Given the description of an element on the screen output the (x, y) to click on. 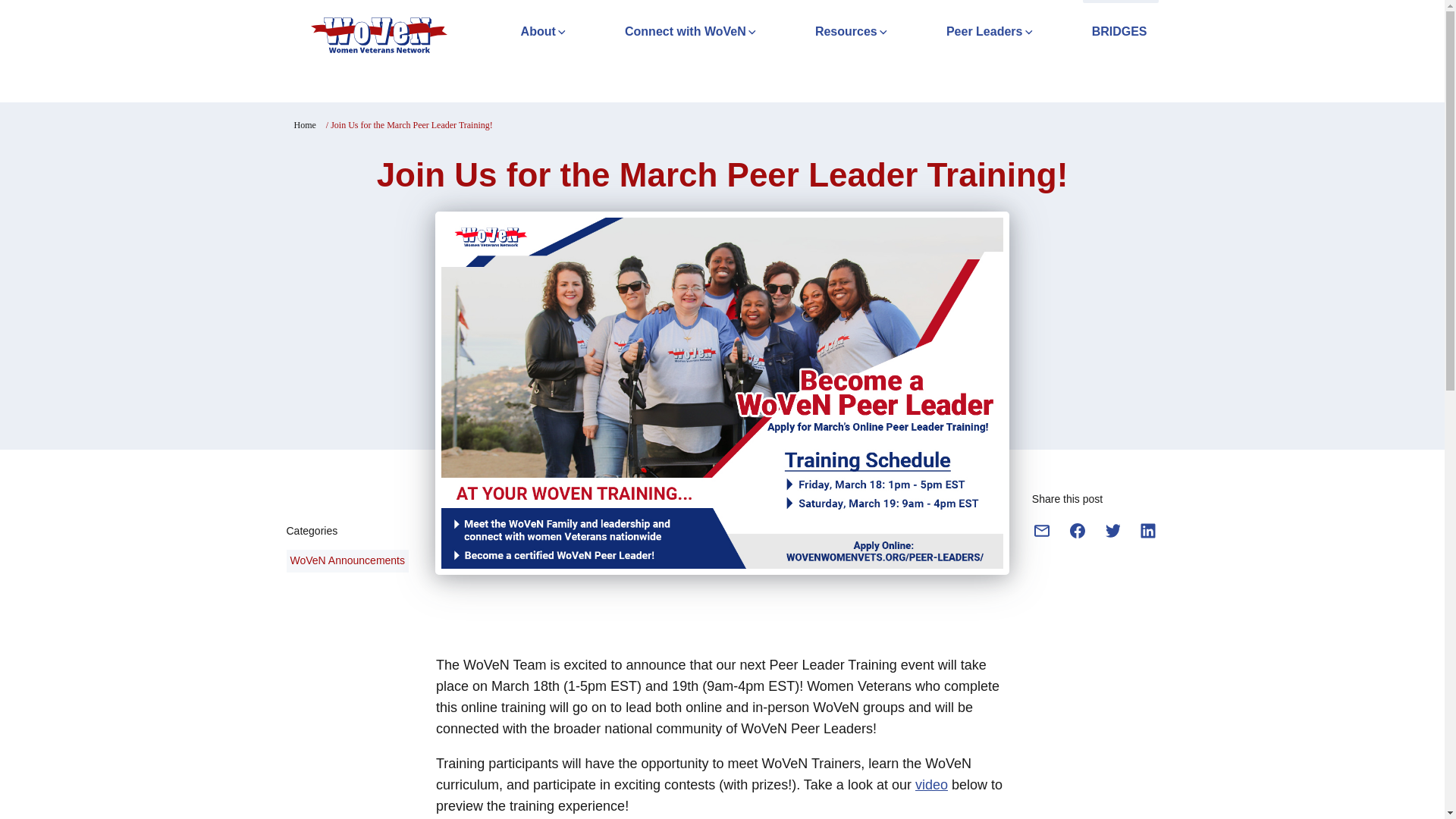
About (515, 33)
Connect with WoVeN (662, 33)
WoVeN I Women Veterans Network (378, 34)
